Given the description of an element on the screen output the (x, y) to click on. 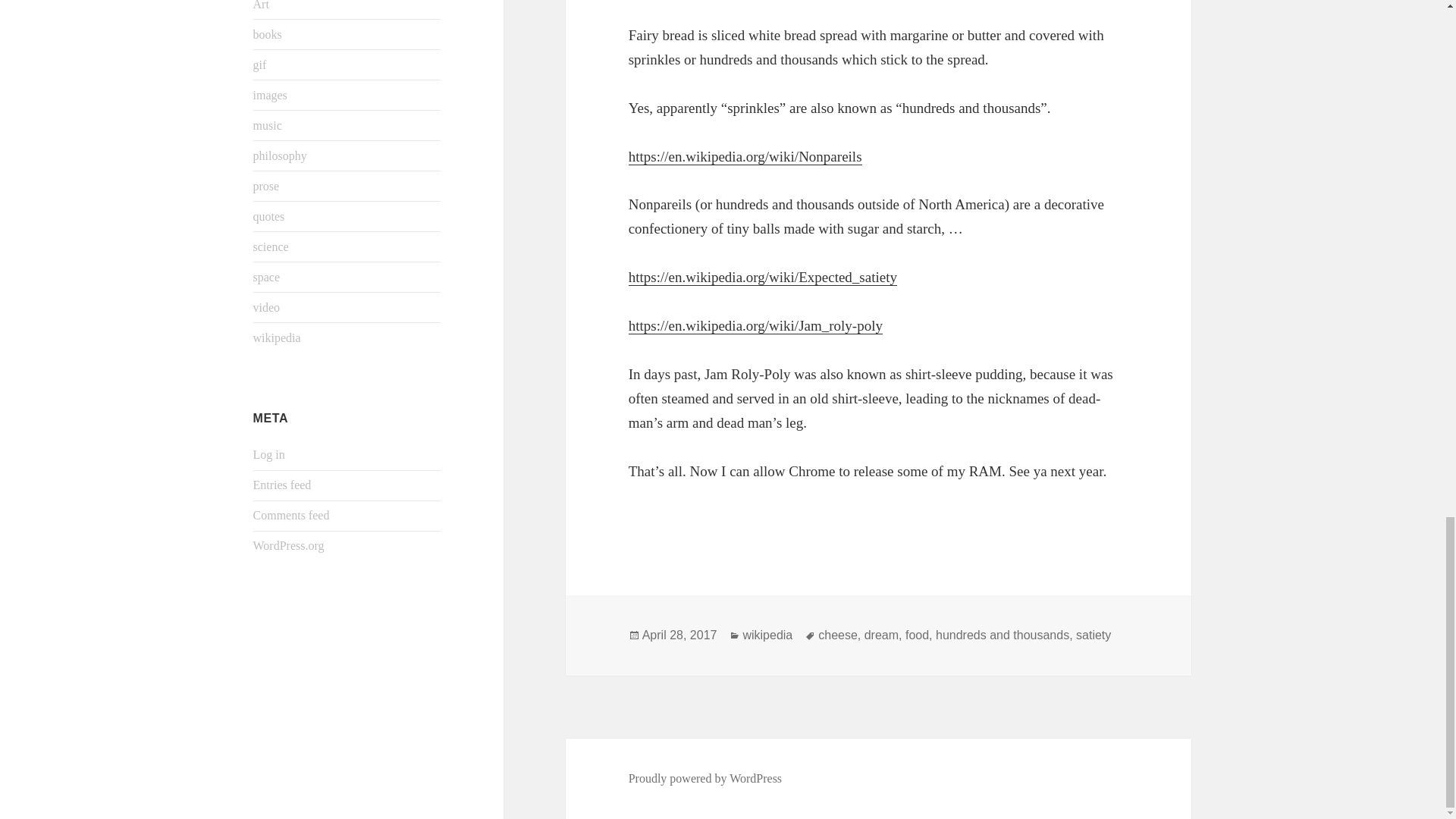
images (269, 94)
music (267, 124)
philosophy (280, 155)
gif (259, 64)
books (267, 33)
Art (261, 5)
